Given the description of an element on the screen output the (x, y) to click on. 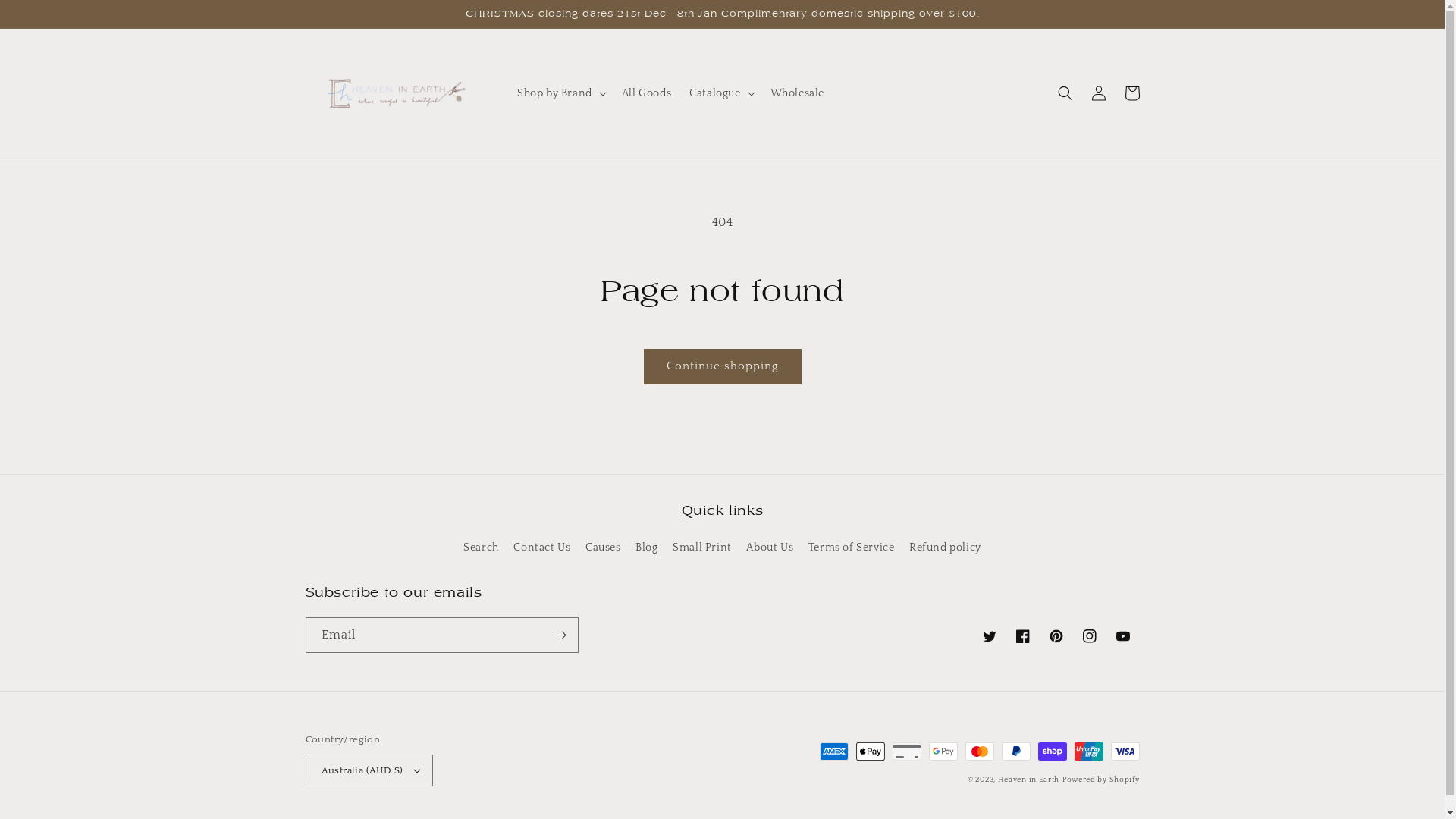
Facebook Element type: text (1021, 635)
Refund policy Element type: text (945, 547)
All Goods Element type: text (646, 93)
Heaven in Earth Element type: text (1028, 779)
Australia (AUD $) Element type: text (368, 770)
Terms of Service Element type: text (851, 547)
Small Print Element type: text (701, 547)
About Us Element type: text (769, 547)
Blog Element type: text (646, 547)
Continue shopping Element type: text (721, 366)
Search Element type: text (480, 549)
Contact Us Element type: text (541, 547)
Wholesale Element type: text (797, 93)
Log in Element type: text (1097, 92)
Causes Element type: text (603, 547)
Pinterest Element type: text (1055, 635)
YouTube Element type: text (1122, 635)
Twitter Element type: text (988, 635)
Powered by Shopify Element type: text (1100, 779)
Cart Element type: text (1131, 92)
Instagram Element type: text (1088, 635)
